Given the description of an element on the screen output the (x, y) to click on. 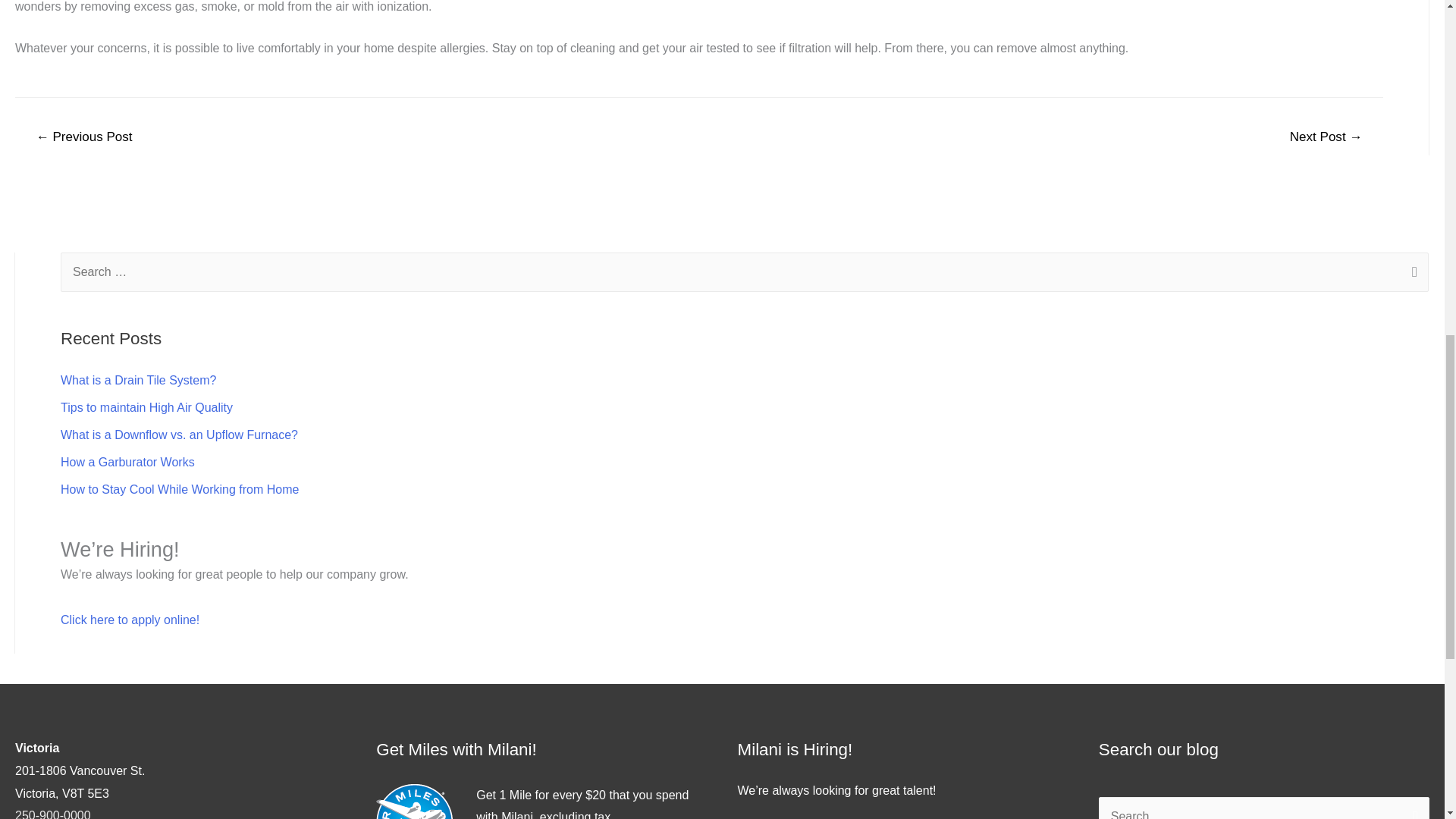
Search (1411, 807)
Search (1411, 807)
